Given the description of an element on the screen output the (x, y) to click on. 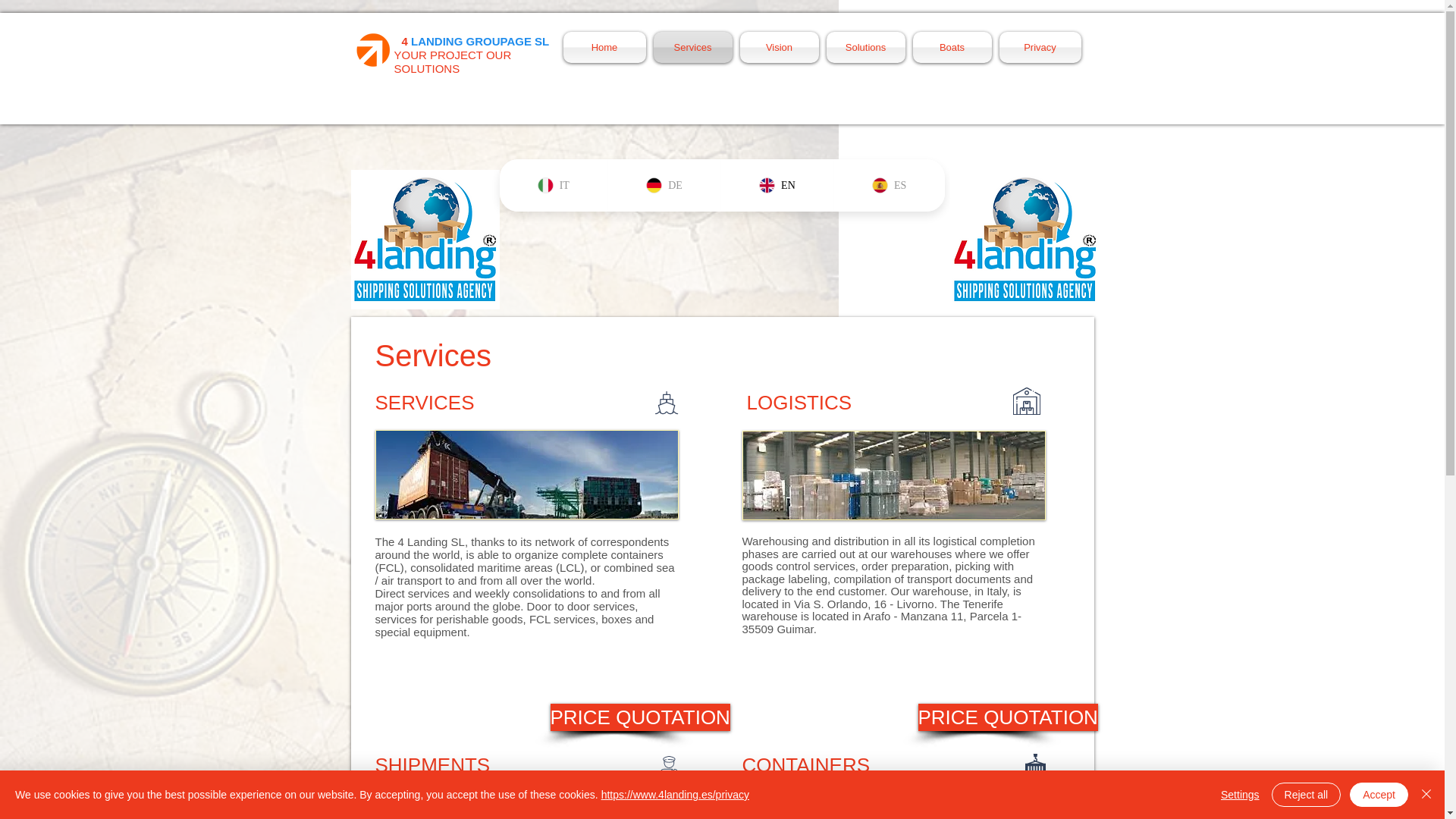
Boats (951, 47)
cont.mare.jpg (893, 808)
PRICE QUOTATION (1007, 717)
Accept (1378, 794)
Home (605, 47)
IT (553, 184)
warehouse.jpg (893, 475)
Solutions (865, 47)
EN (776, 184)
PRICE QUOTATION (640, 717)
